Given the description of an element on the screen output the (x, y) to click on. 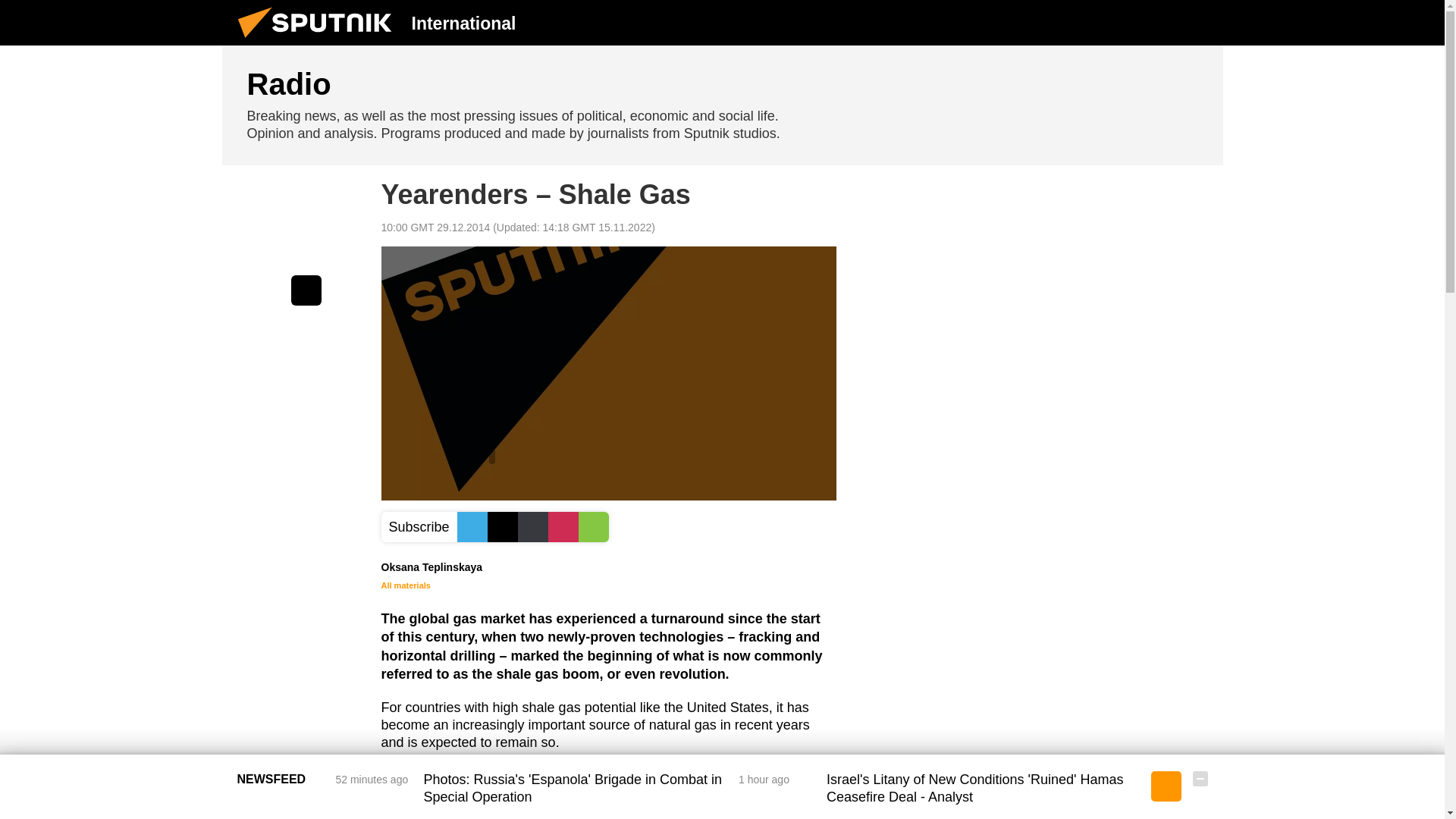
Chats (1199, 22)
Radio (722, 105)
Authorization (1123, 22)
Sputnik International (319, 41)
